Given the description of an element on the screen output the (x, y) to click on. 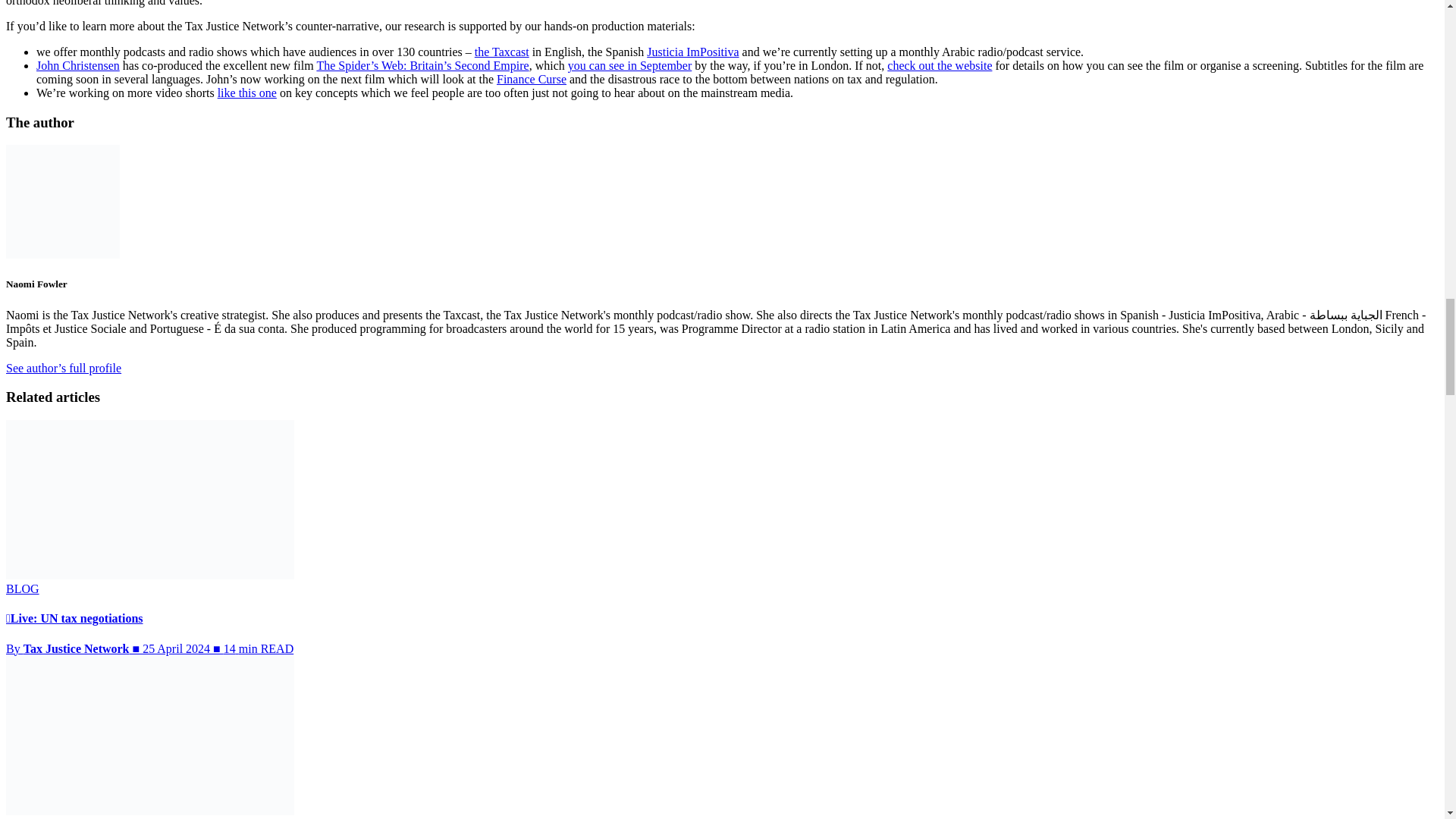
shell games3 (955, 32)
PM Keir Starmer and President Biden speak at NATO Summit (409, 32)
